Given the description of an element on the screen output the (x, y) to click on. 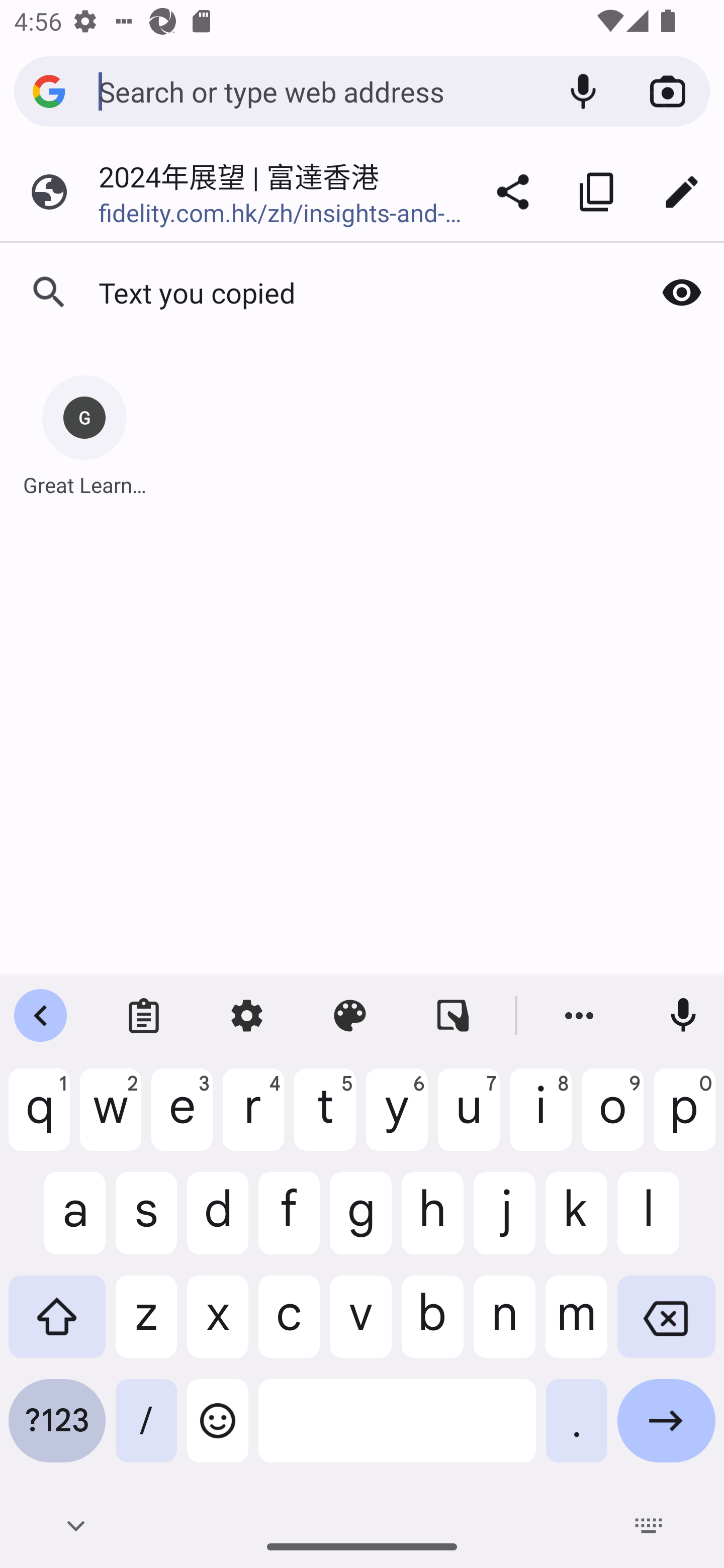
Start voice search (582, 91)
Search with your camera using Google Lens (667, 91)
Search or type web address (319, 90)
Share… (512, 192)
Copy link (597, 192)
Edit (681, 192)
Text you copied (319, 292)
Show clipboard contents (681, 292)
